Given the description of an element on the screen output the (x, y) to click on. 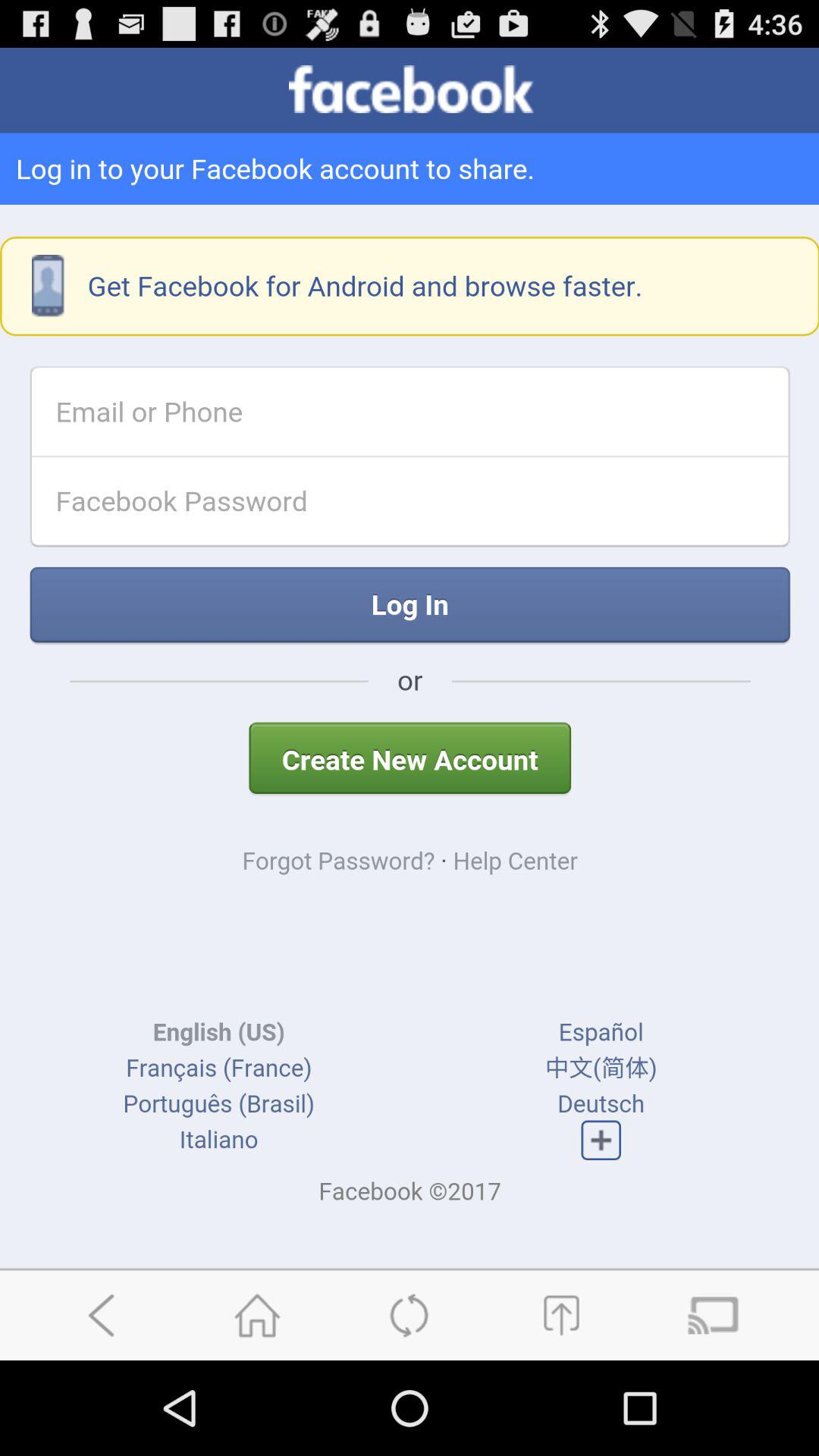
home page button (257, 1315)
